Given the description of an element on the screen output the (x, y) to click on. 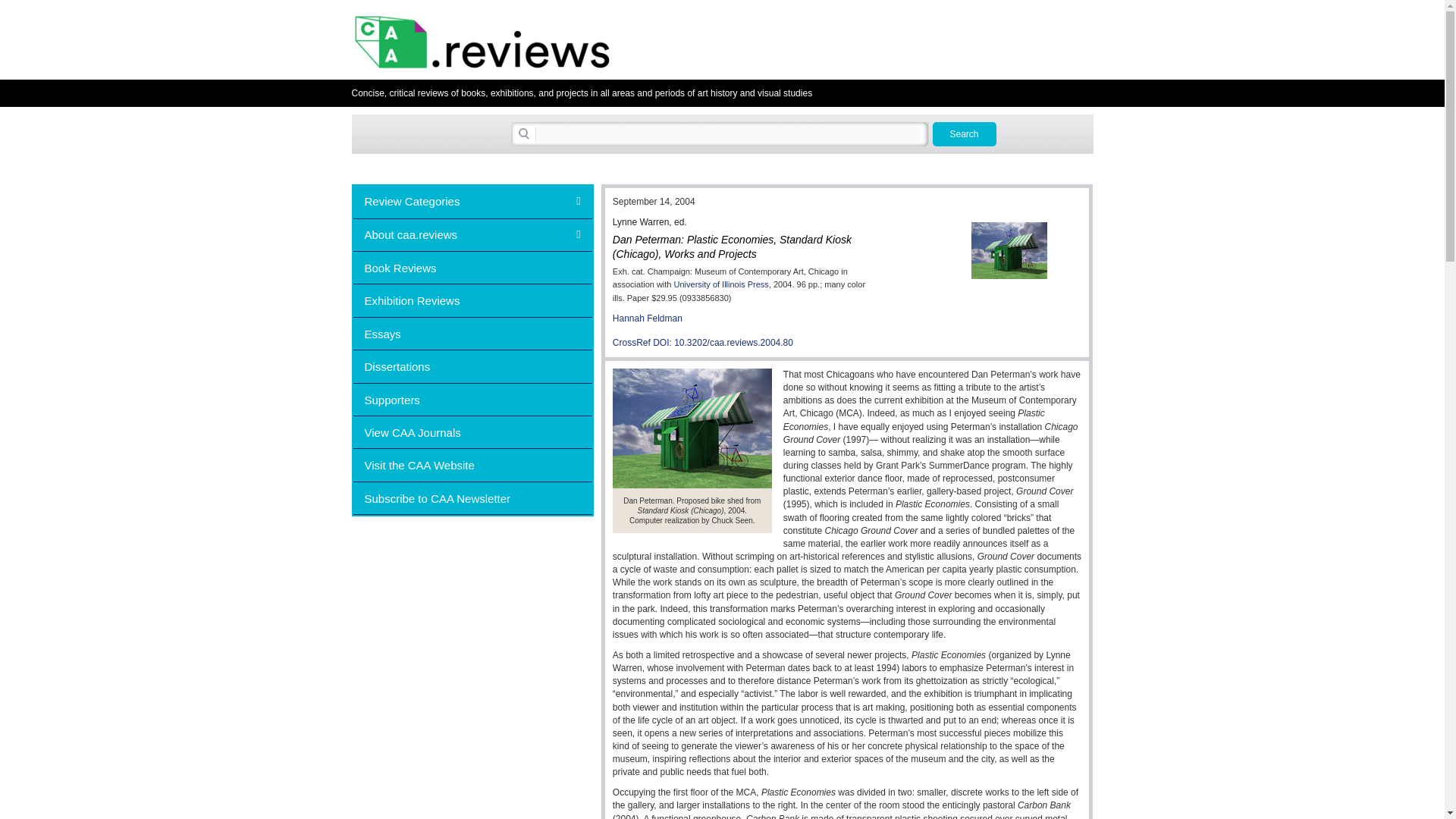
Search (964, 134)
Search (964, 134)
Review Categories (472, 201)
